Given the description of an element on the screen output the (x, y) to click on. 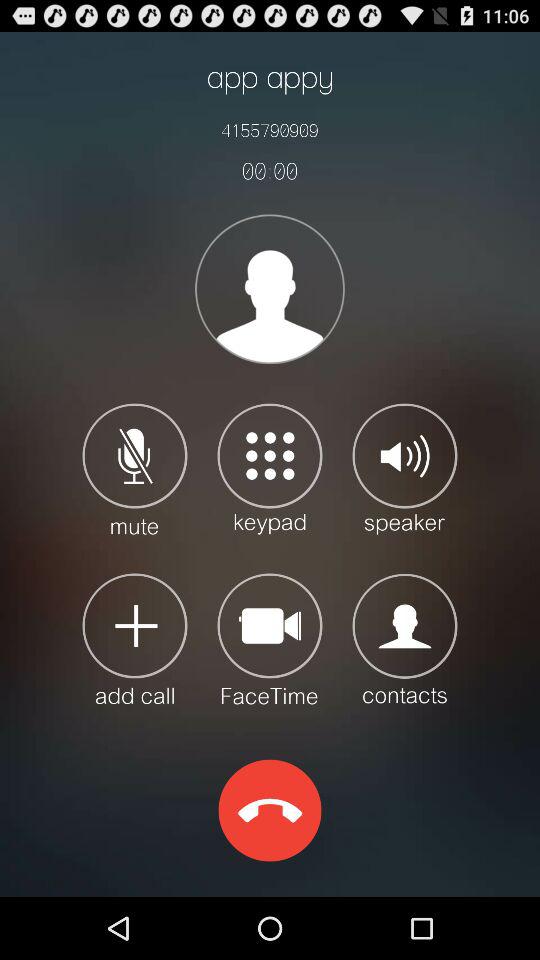
end call (269, 809)
